Given the description of an element on the screen output the (x, y) to click on. 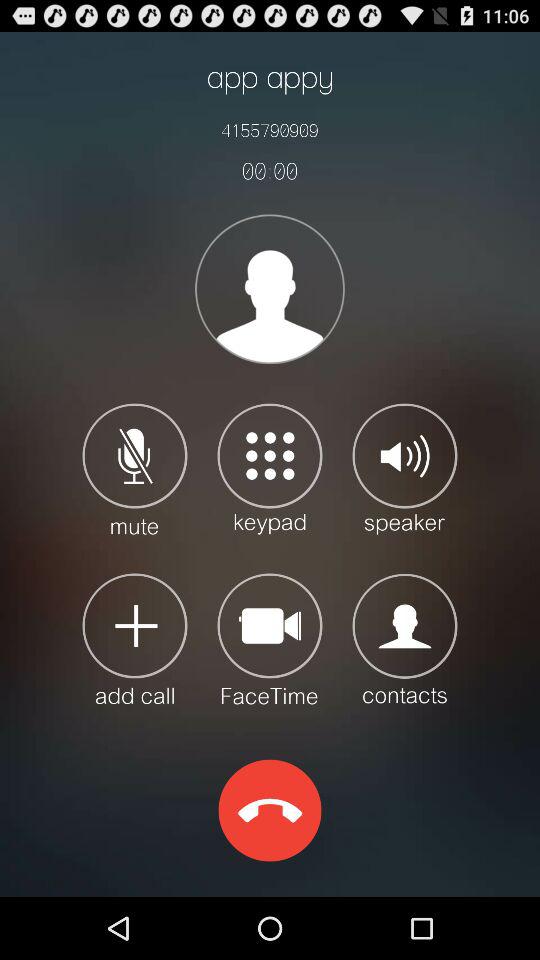
end call (269, 809)
